Given the description of an element on the screen output the (x, y) to click on. 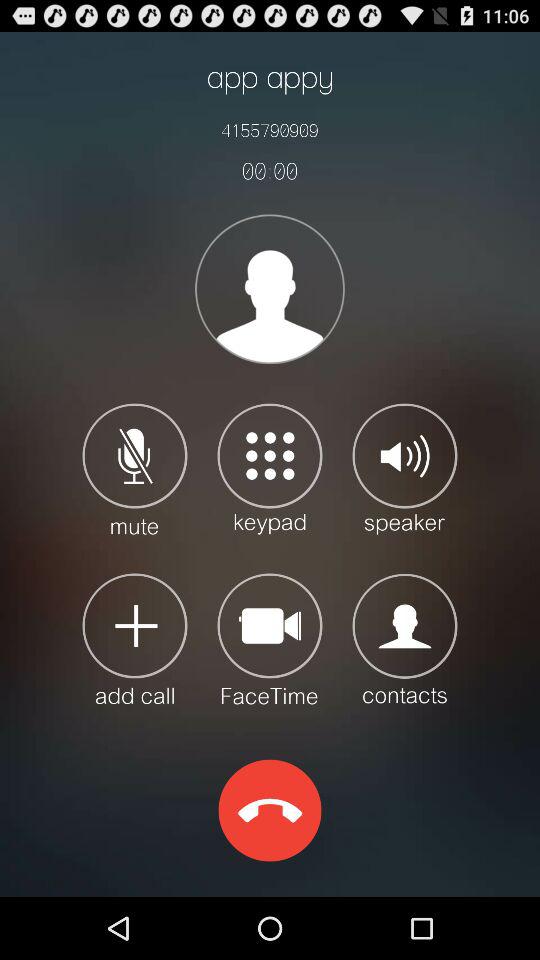
end call (269, 809)
